Given the description of an element on the screen output the (x, y) to click on. 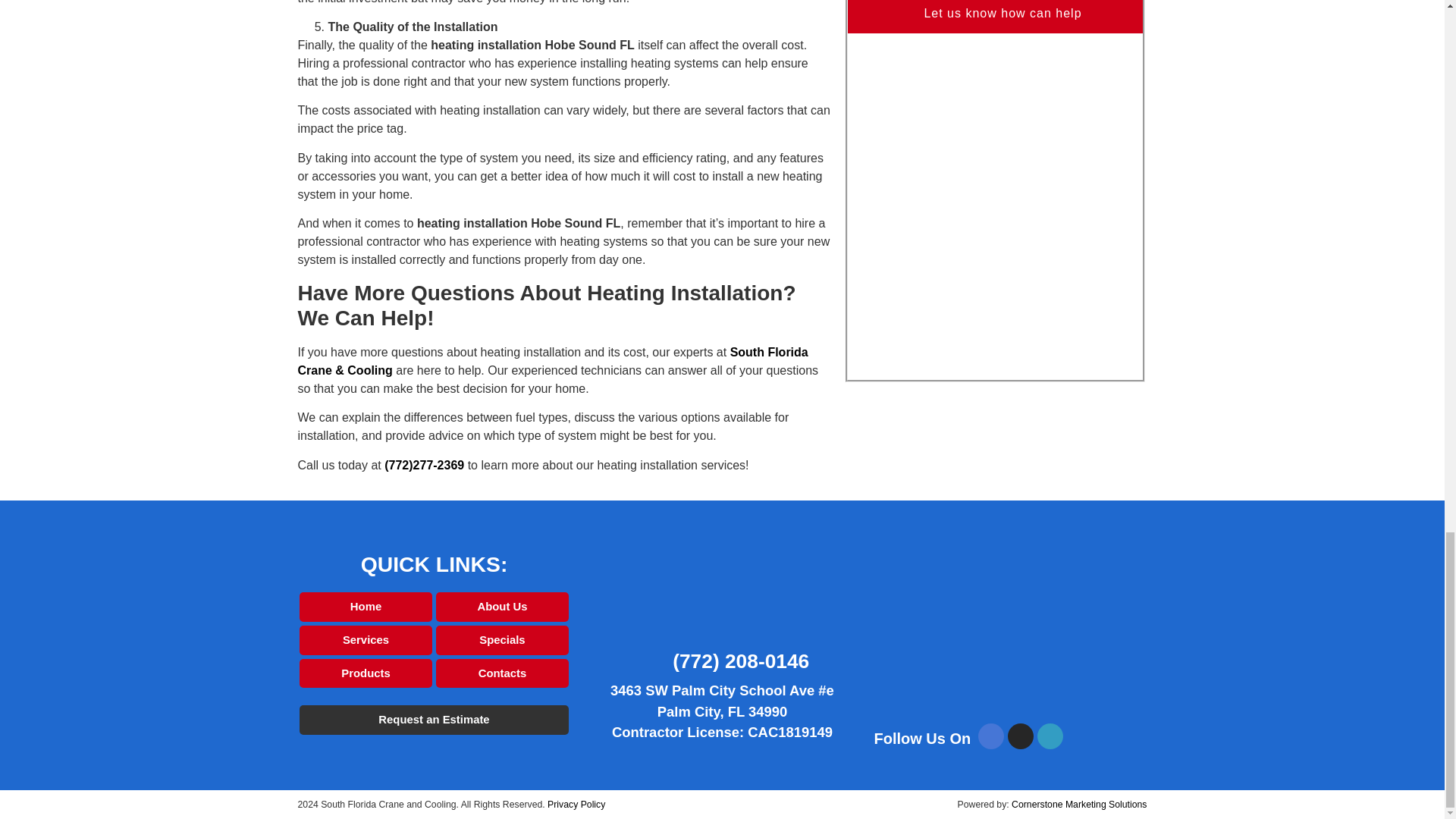
South Florida Crane and Cooling (1010, 630)
